Given the description of an element on the screen output the (x, y) to click on. 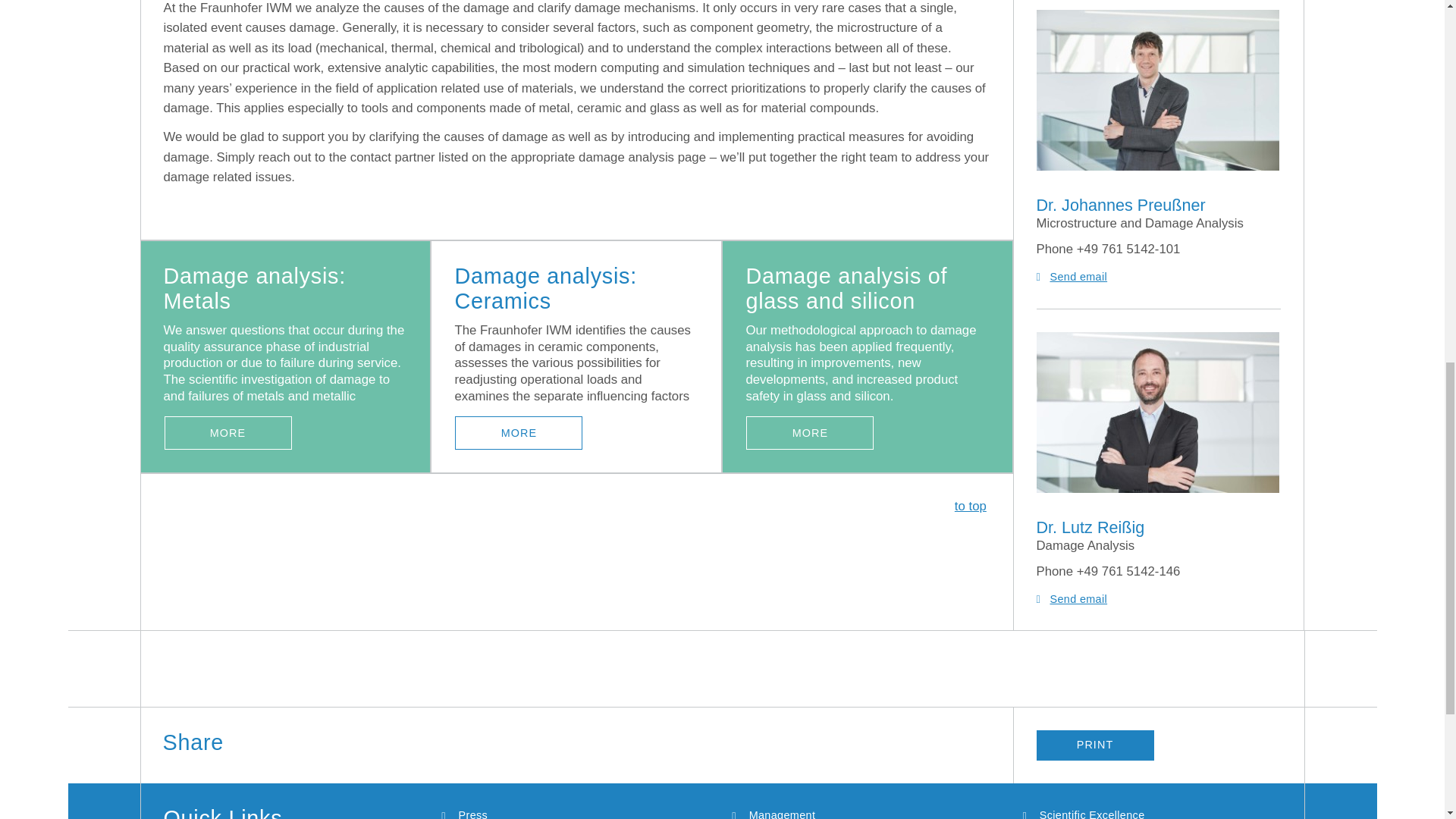
More Information (227, 432)
More Information (518, 432)
More Information (809, 432)
